Given the description of an element on the screen output the (x, y) to click on. 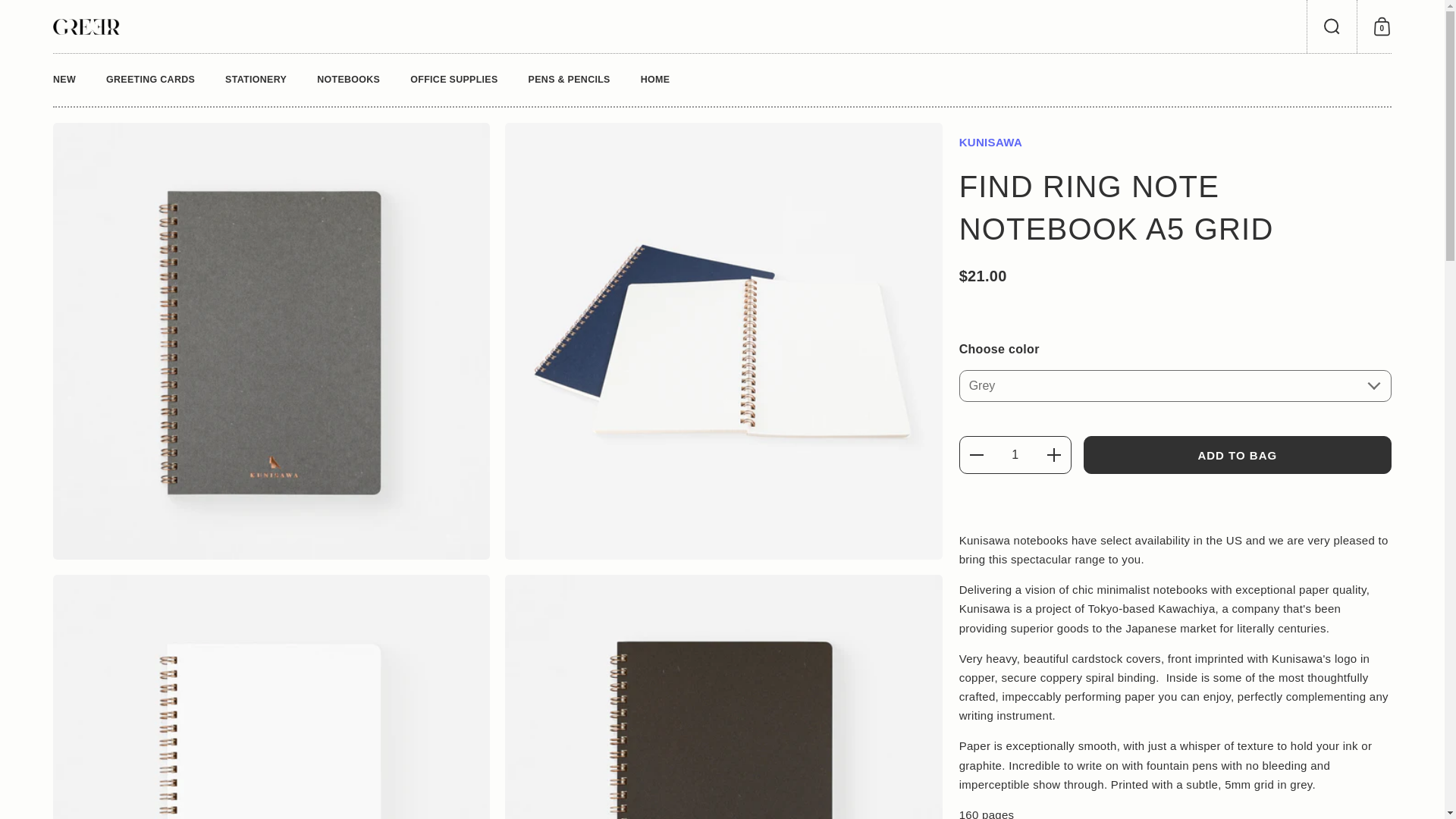
Search (1331, 26)
Open search (1331, 26)
NEW (63, 79)
NOTEBOOKS (347, 79)
GREER Chicago (85, 26)
GREETING CARDS (149, 79)
Shopping Cart (1381, 26)
STATIONERY (1381, 26)
